Given the description of an element on the screen output the (x, y) to click on. 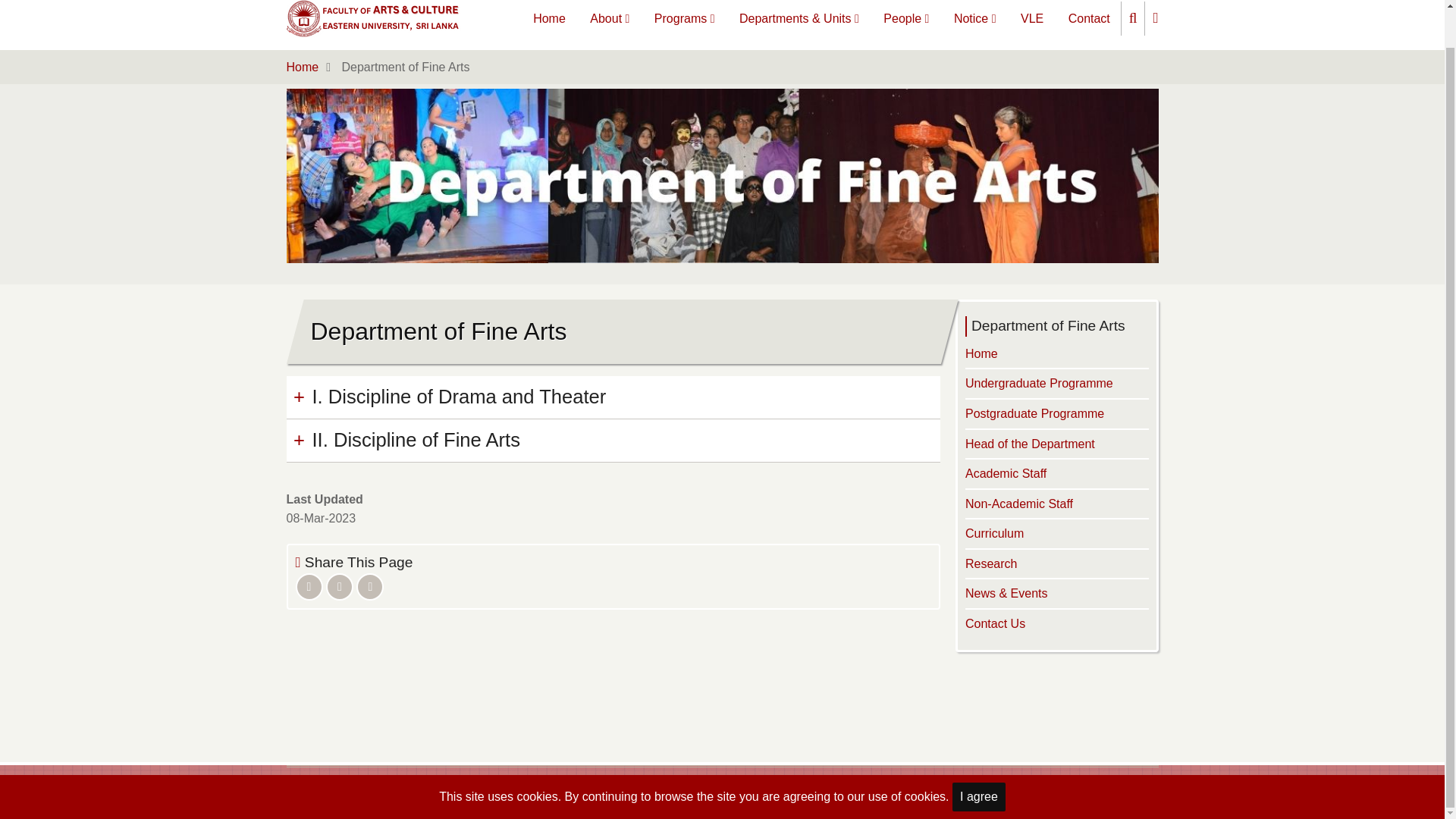
Programs (684, 18)
About (609, 18)
Home (373, 17)
Home (549, 18)
